Given the description of an element on the screen output the (x, y) to click on. 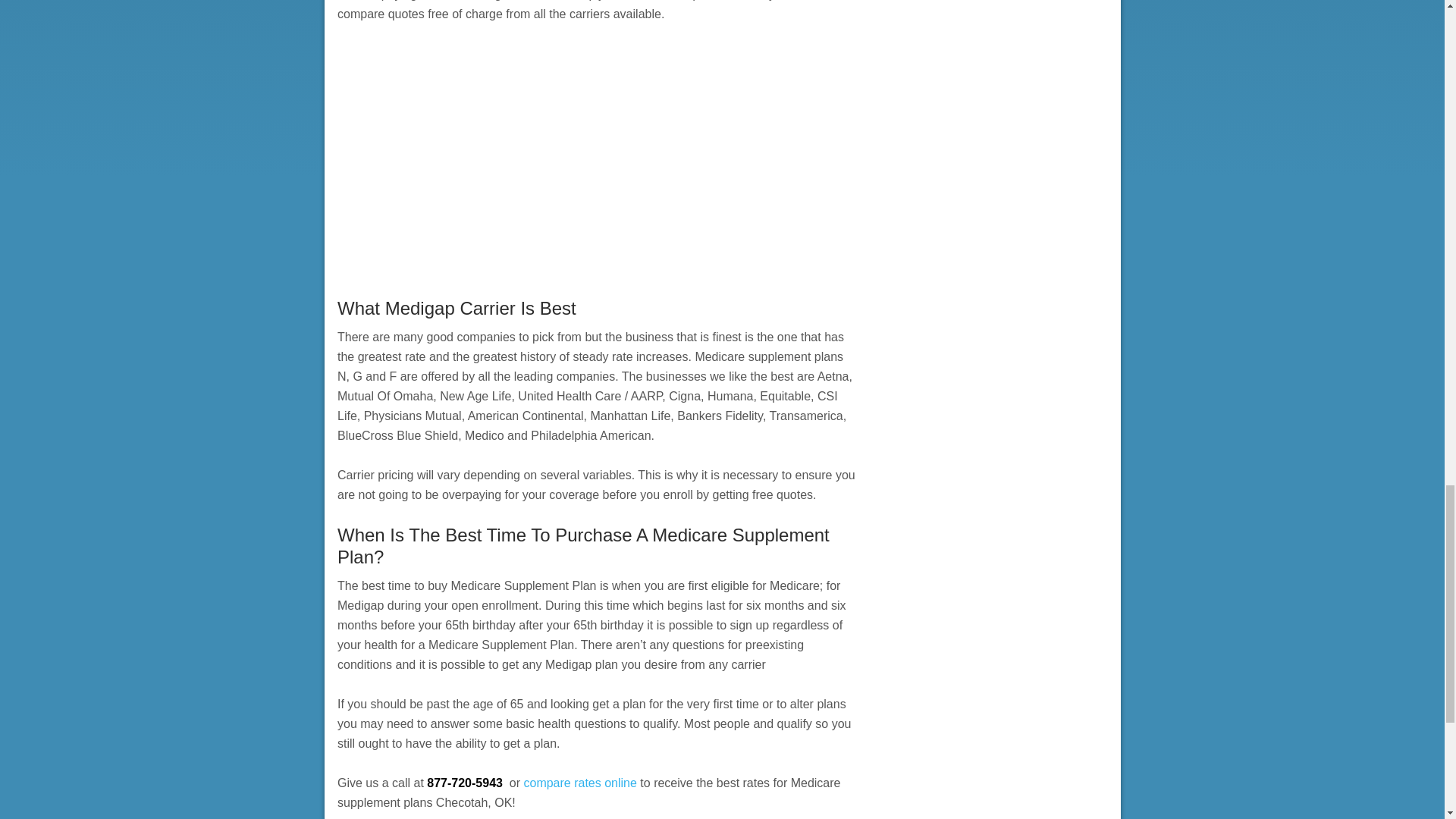
compare rates online (579, 782)
